Given the description of an element on the screen output the (x, y) to click on. 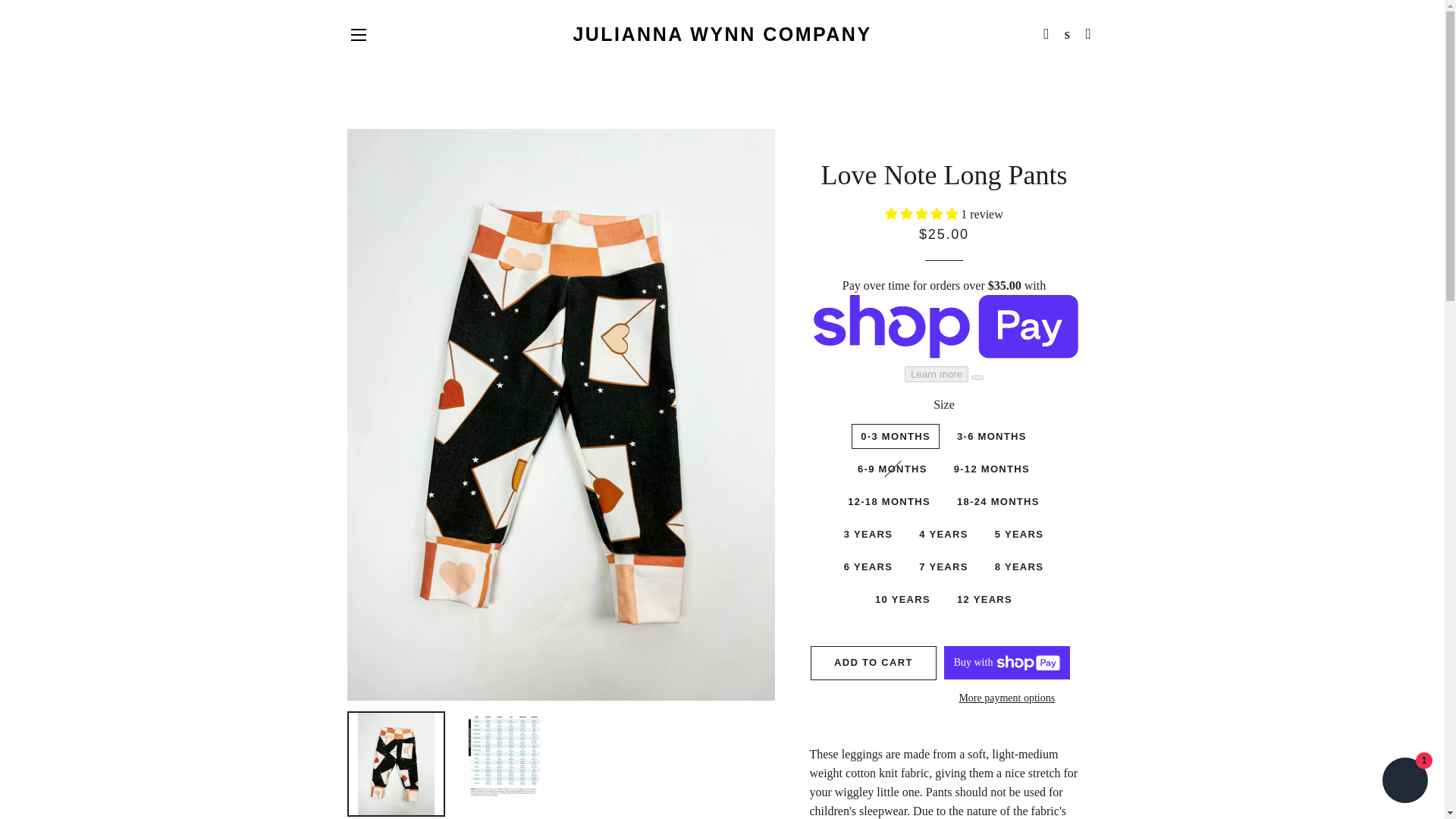
Shopify online store chat (1404, 781)
SITE NAVIGATION (358, 34)
JULIANNA WYNN COMPANY (721, 34)
